Given the description of an element on the screen output the (x, y) to click on. 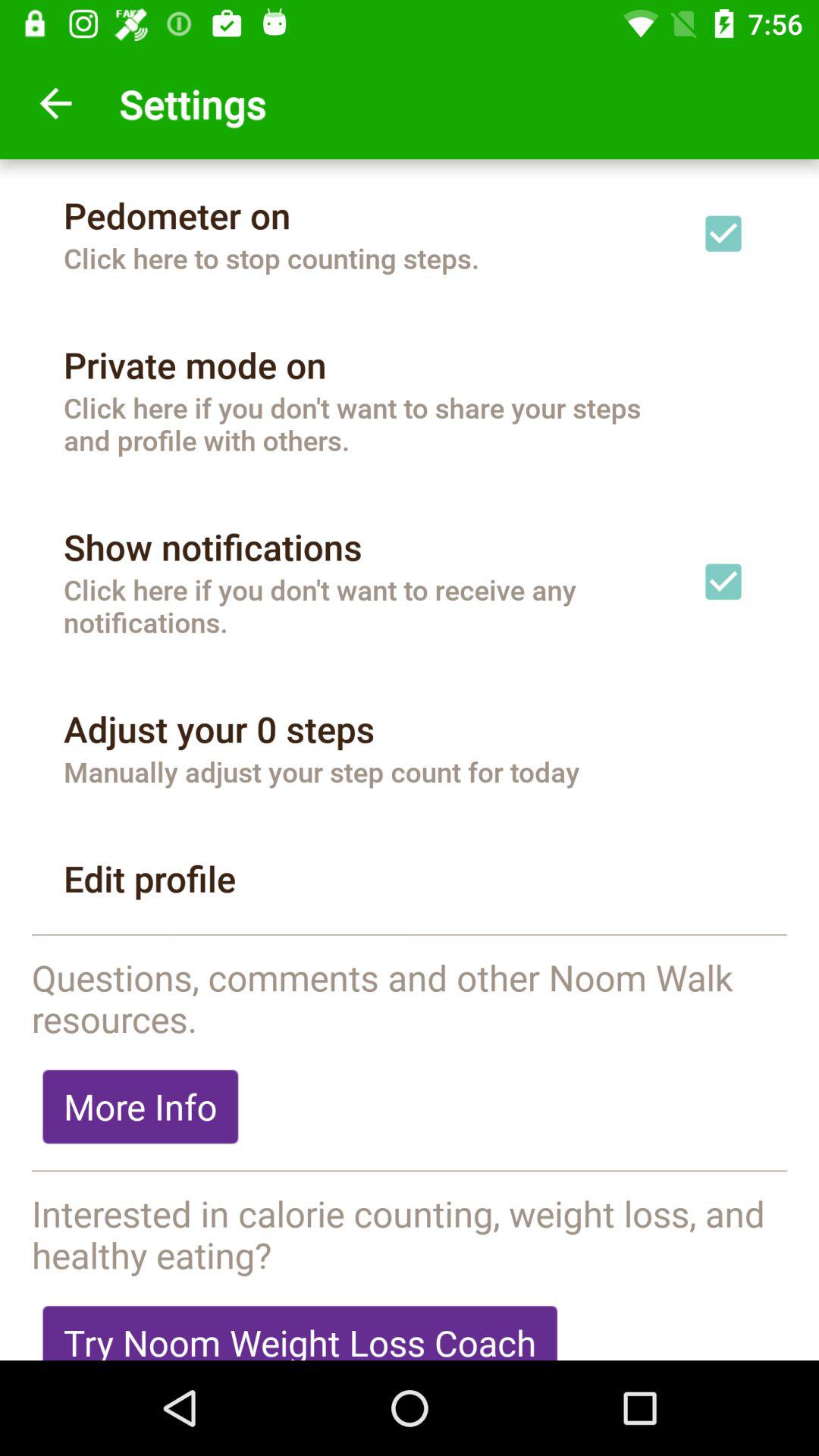
open icon above pedometer on icon (55, 103)
